Given the description of an element on the screen output the (x, y) to click on. 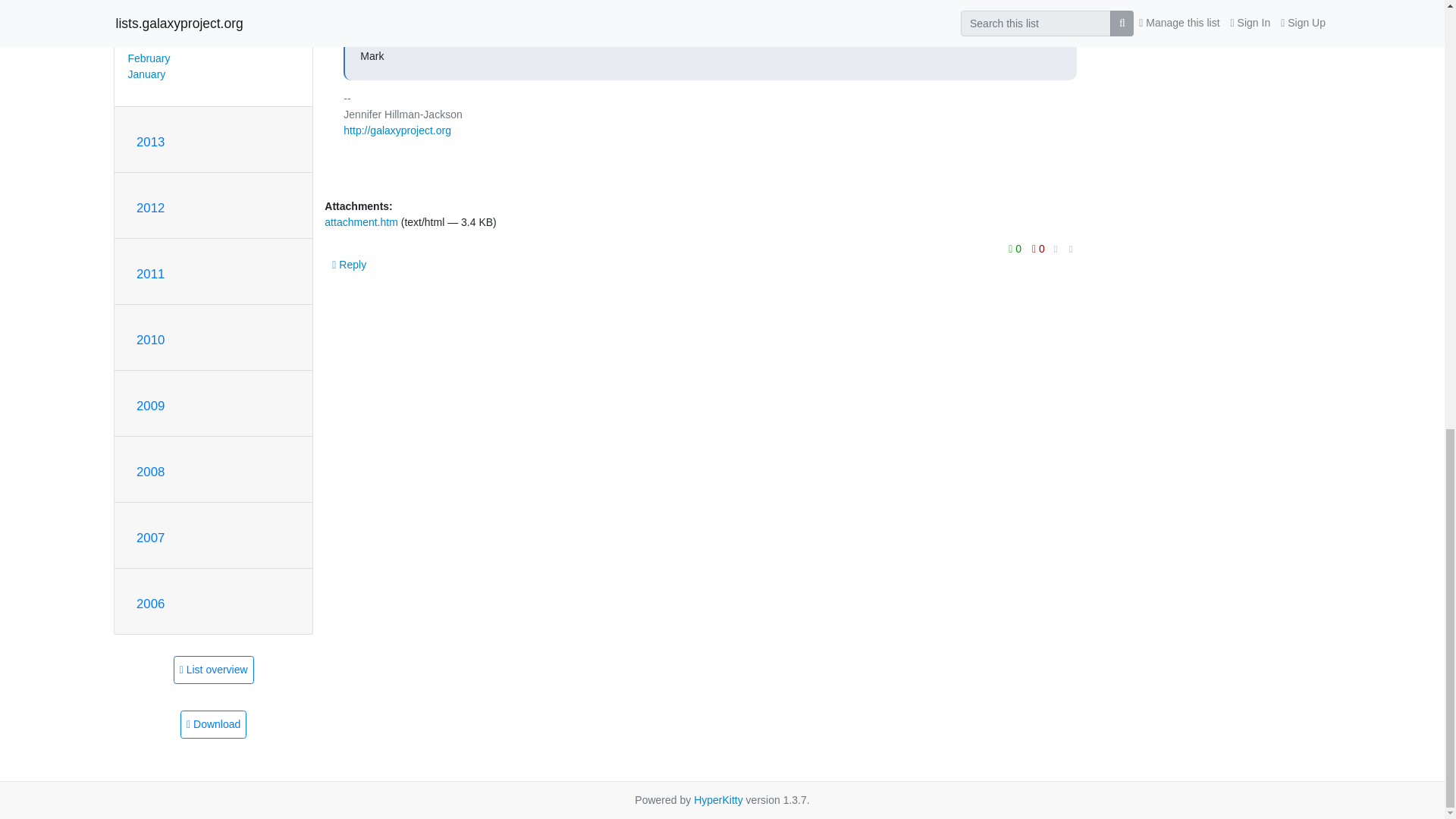
Sign in to reply online (349, 264)
You must be logged-in to vote. (1037, 248)
You must be logged-in to vote. (1015, 248)
This message in gzipped mbox format (213, 724)
